Given the description of an element on the screen output the (x, y) to click on. 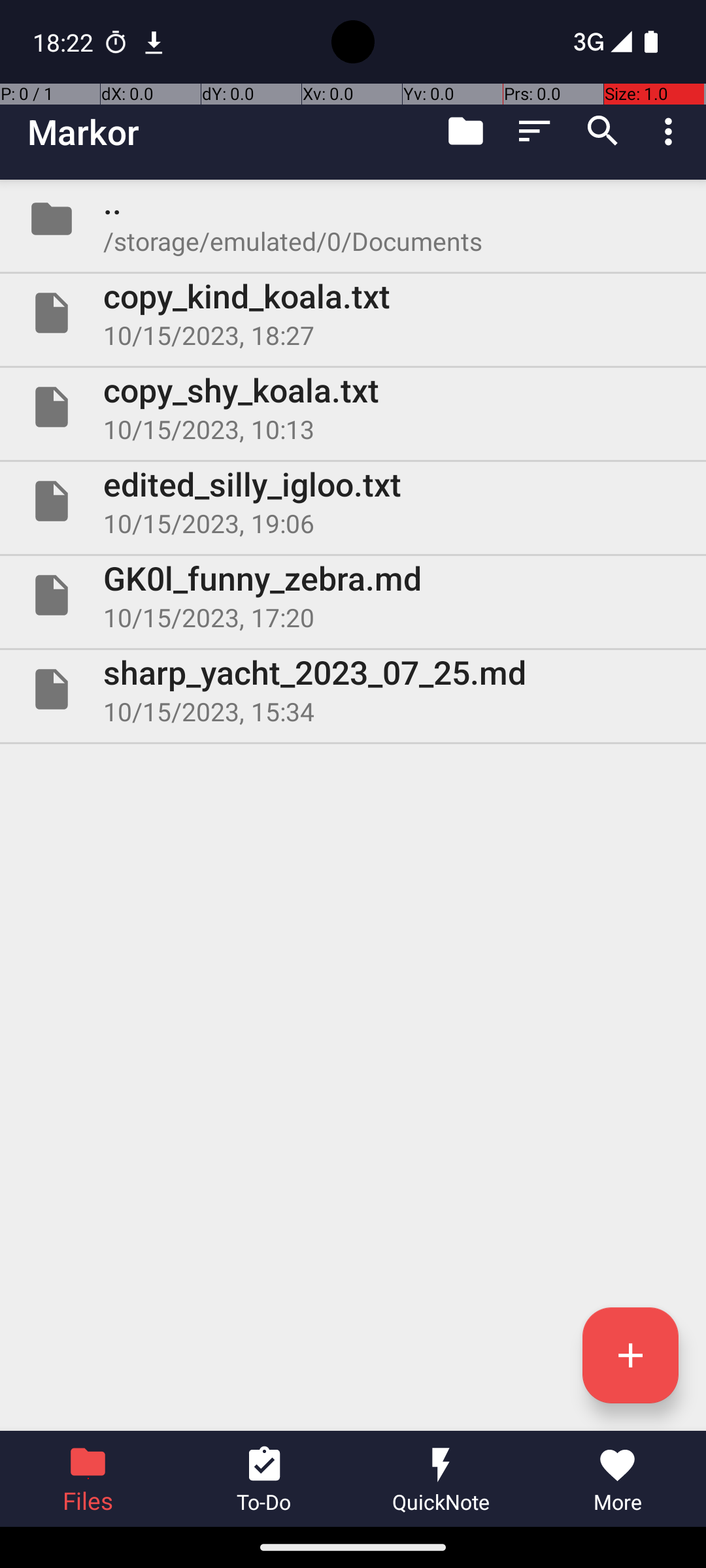
File copy_kind_koala.txt  Element type: android.widget.LinearLayout (353, 312)
File copy_shy_koala.txt  Element type: android.widget.LinearLayout (353, 406)
File edited_silly_igloo.txt  Element type: android.widget.LinearLayout (353, 500)
File GK0l_funny_zebra.md  Element type: android.widget.LinearLayout (353, 594)
File sharp_yacht_2023_07_25.md  Element type: android.widget.LinearLayout (353, 689)
18:22 Element type: android.widget.TextView (64, 41)
